Given the description of an element on the screen output the (x, y) to click on. 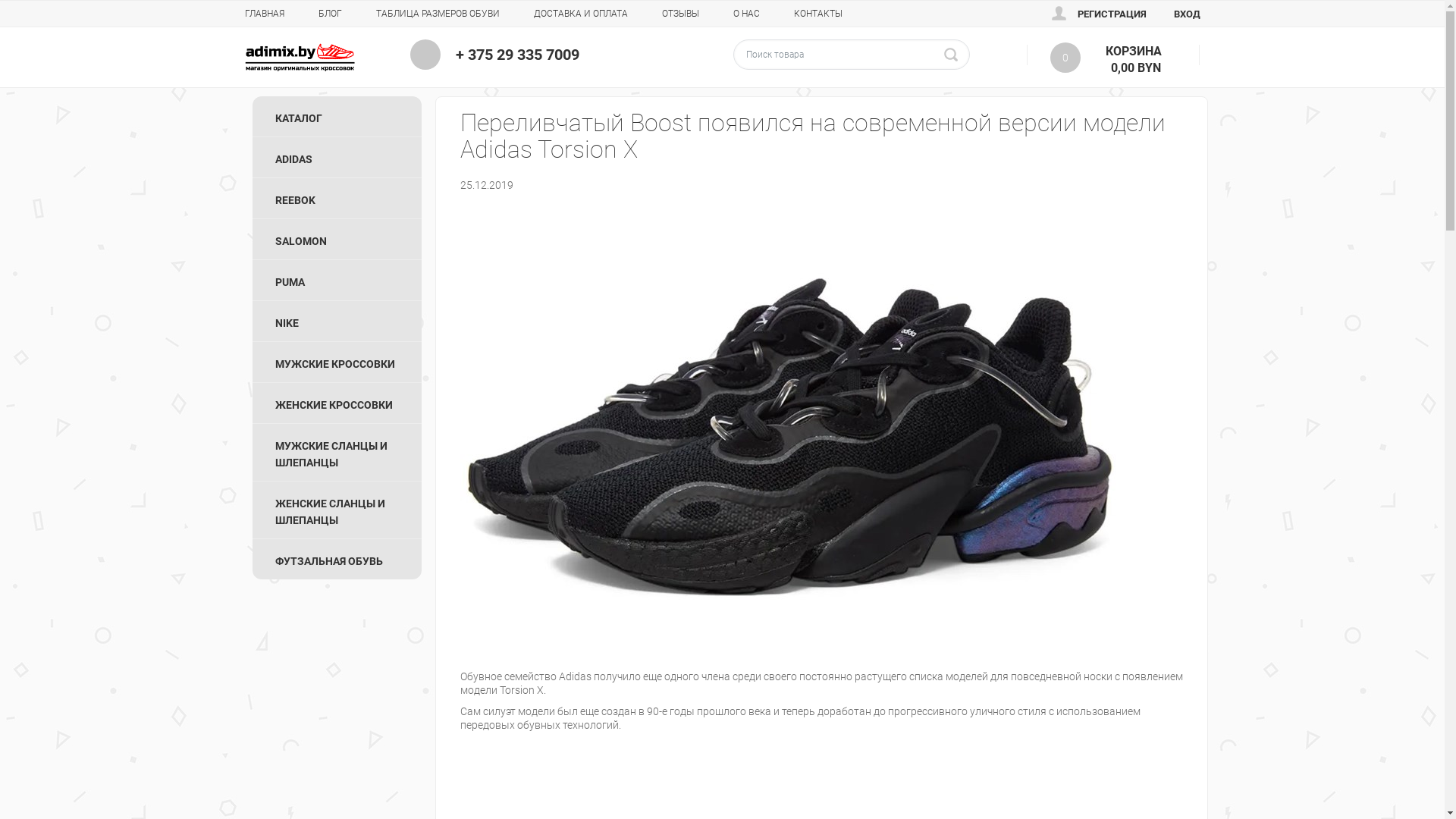
+ 375 29 335 7009 Element type: text (516, 54)
NIKE Element type: text (335, 321)
PUMA Element type: text (335, 280)
ADIDAS Element type: text (335, 157)
SALOMON Element type: text (335, 239)
REEBOK Element type: text (335, 198)
